Given the description of an element on the screen output the (x, y) to click on. 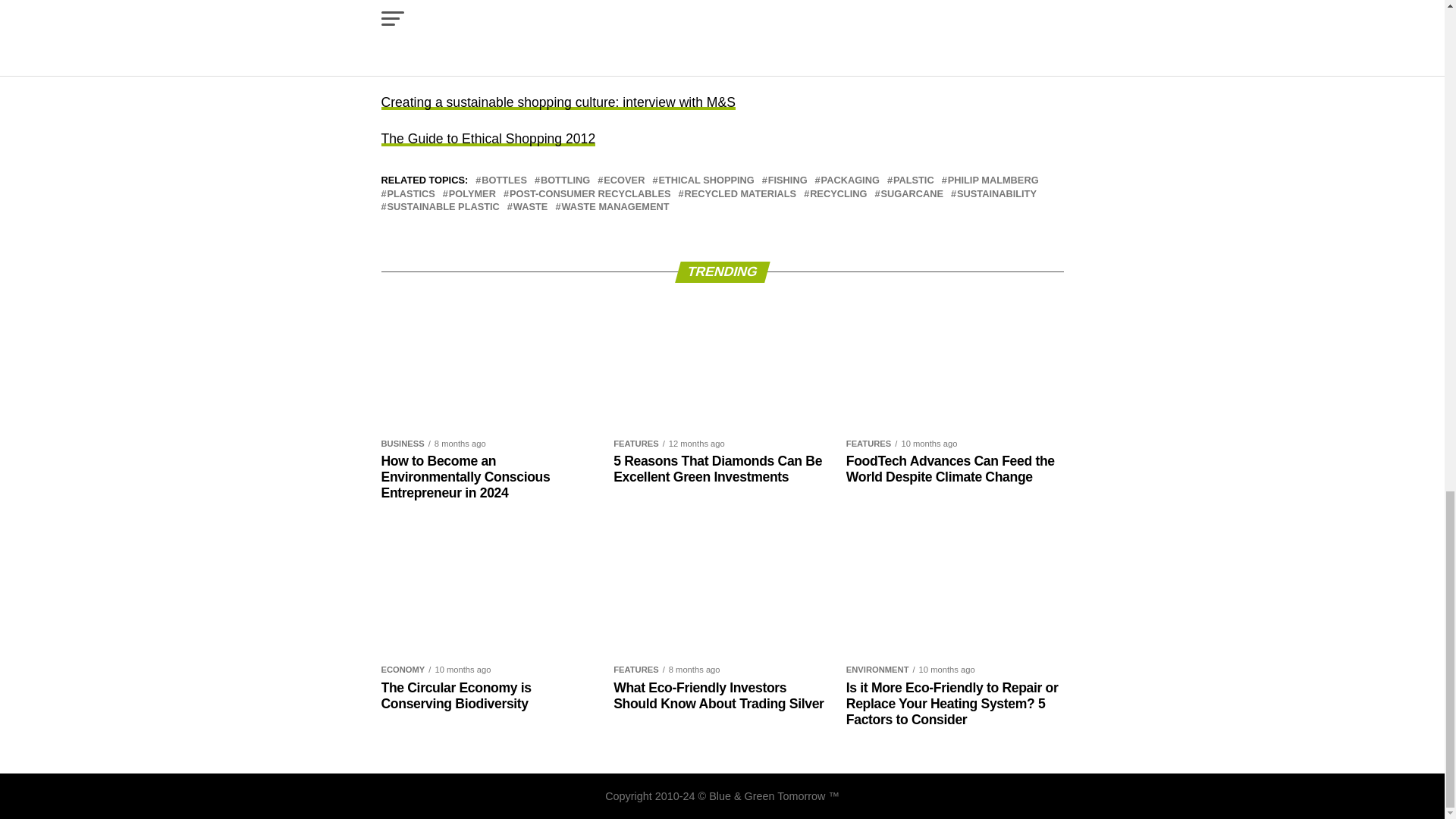
FISHING (788, 180)
making sustainable plastics was not just a pipedream (603, 2)
BOTTLING (564, 180)
PACKAGING (850, 180)
ETHICAL SHOPPING (706, 180)
SUGARCANE (911, 194)
POST-CONSUMER RECYCLABLES (590, 194)
POLYMER (472, 194)
PHILIP MALMBERG (993, 180)
SUSTAINABLE PLASTIC (443, 207)
